Given the description of an element on the screen output the (x, y) to click on. 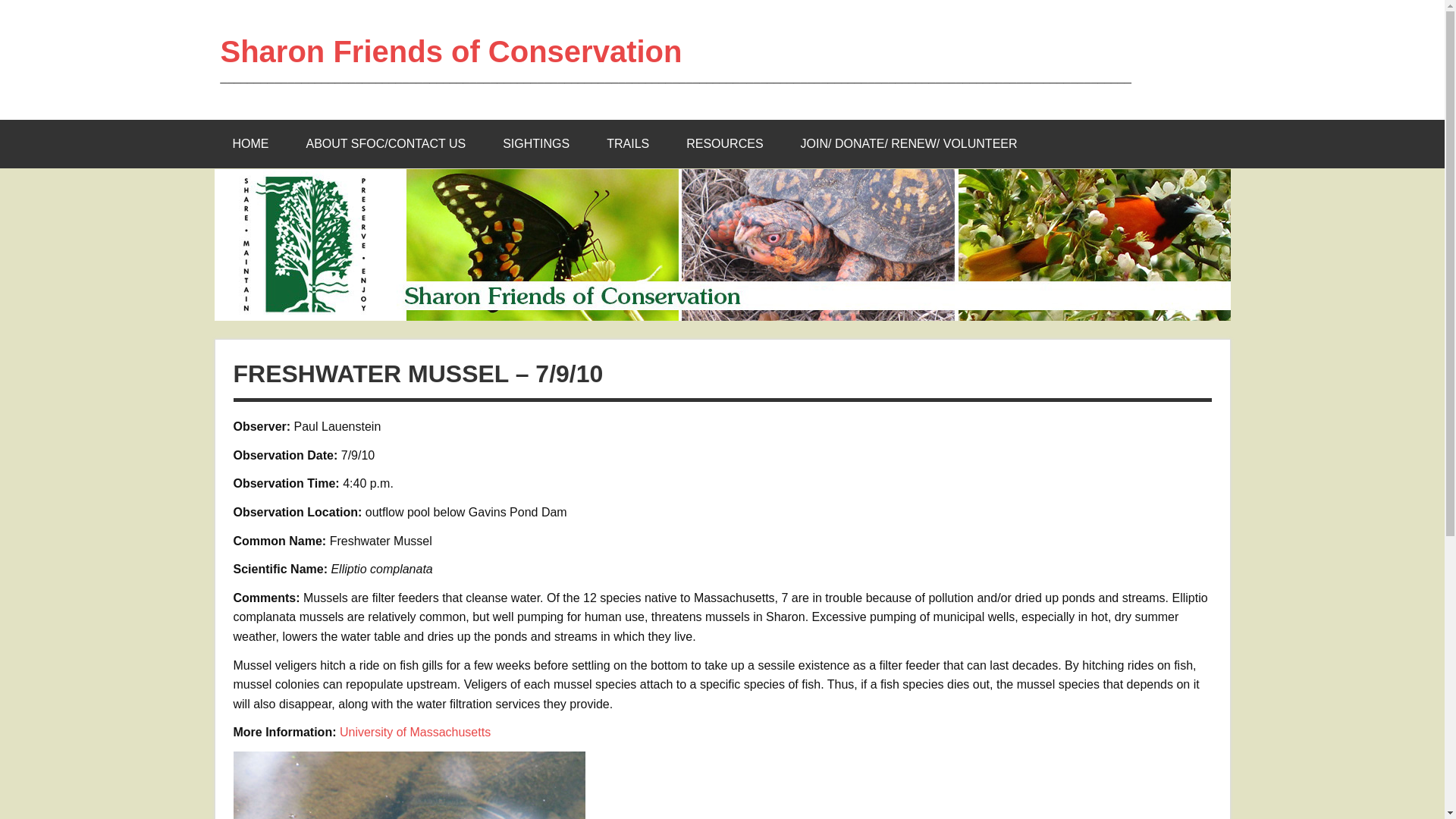
TRAILS (627, 143)
SIGHTINGS (536, 143)
Sharon Friends of Conservation (450, 51)
HOME (250, 143)
